Given the description of an element on the screen output the (x, y) to click on. 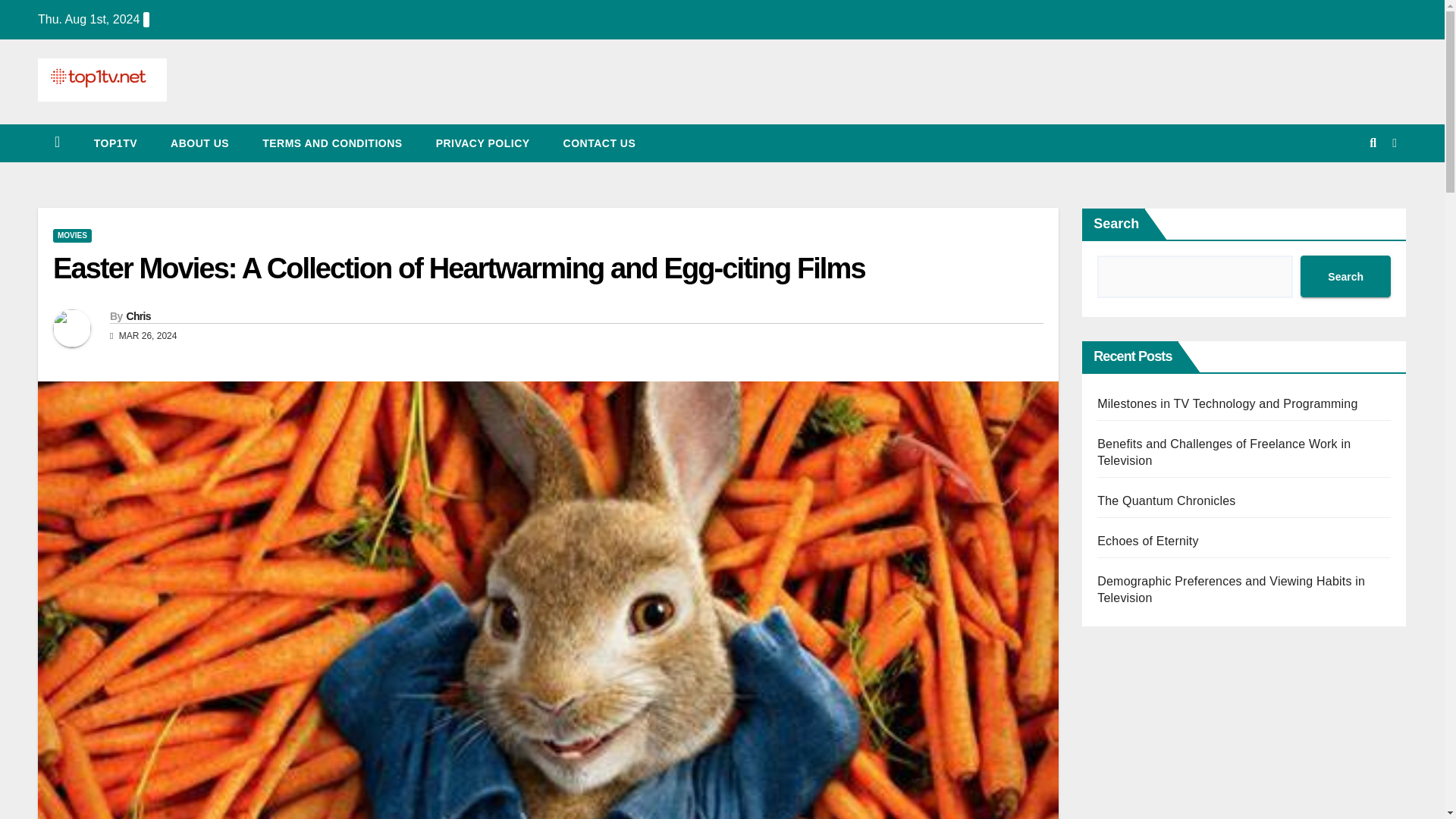
PRIVACY POLICY (483, 143)
TERMS AND CONDITIONS (332, 143)
ABOUT US (200, 143)
Chris (137, 316)
MOVIES (71, 235)
Privacy policy (483, 143)
TOP1TV (115, 143)
About Us (200, 143)
